Given the description of an element on the screen output the (x, y) to click on. 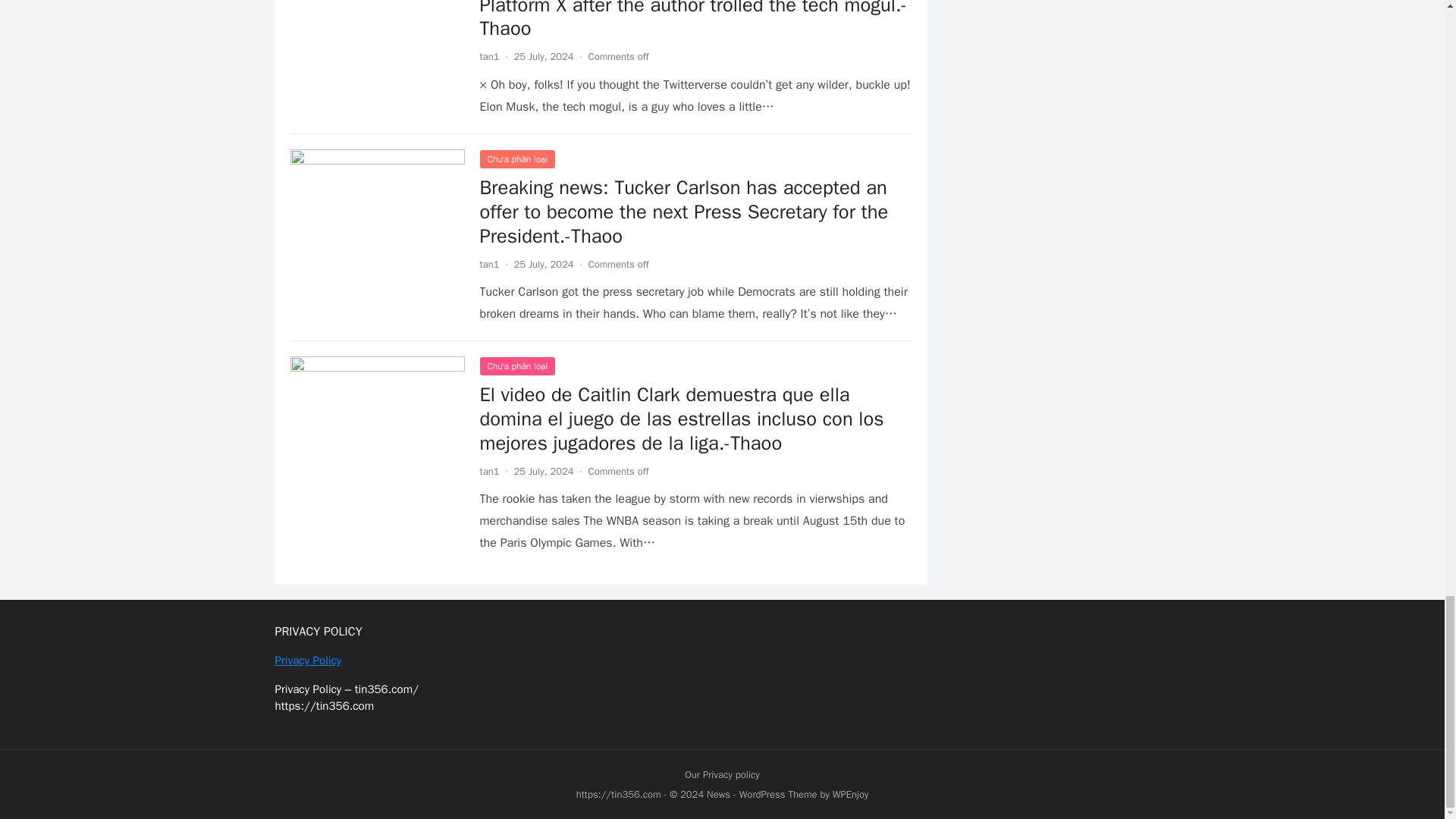
Posts by tan1 (489, 264)
tan1 (489, 471)
tan1 (489, 56)
Posts by tan1 (489, 56)
Posts by tan1 (489, 471)
tan1 (489, 264)
